Given the description of an element on the screen output the (x, y) to click on. 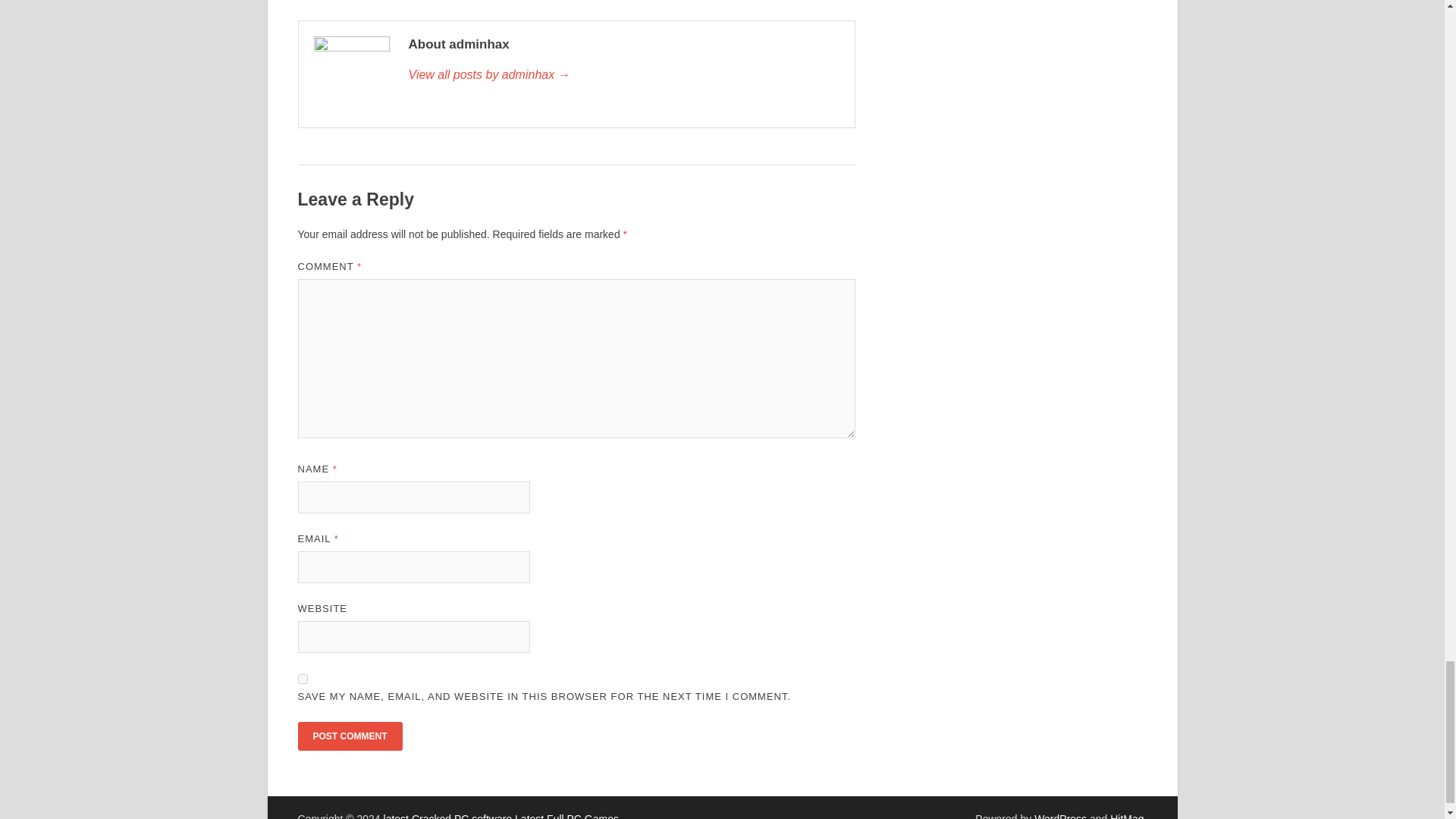
Post Comment (349, 736)
yes (302, 678)
adminhax (622, 75)
